Given the description of an element on the screen output the (x, y) to click on. 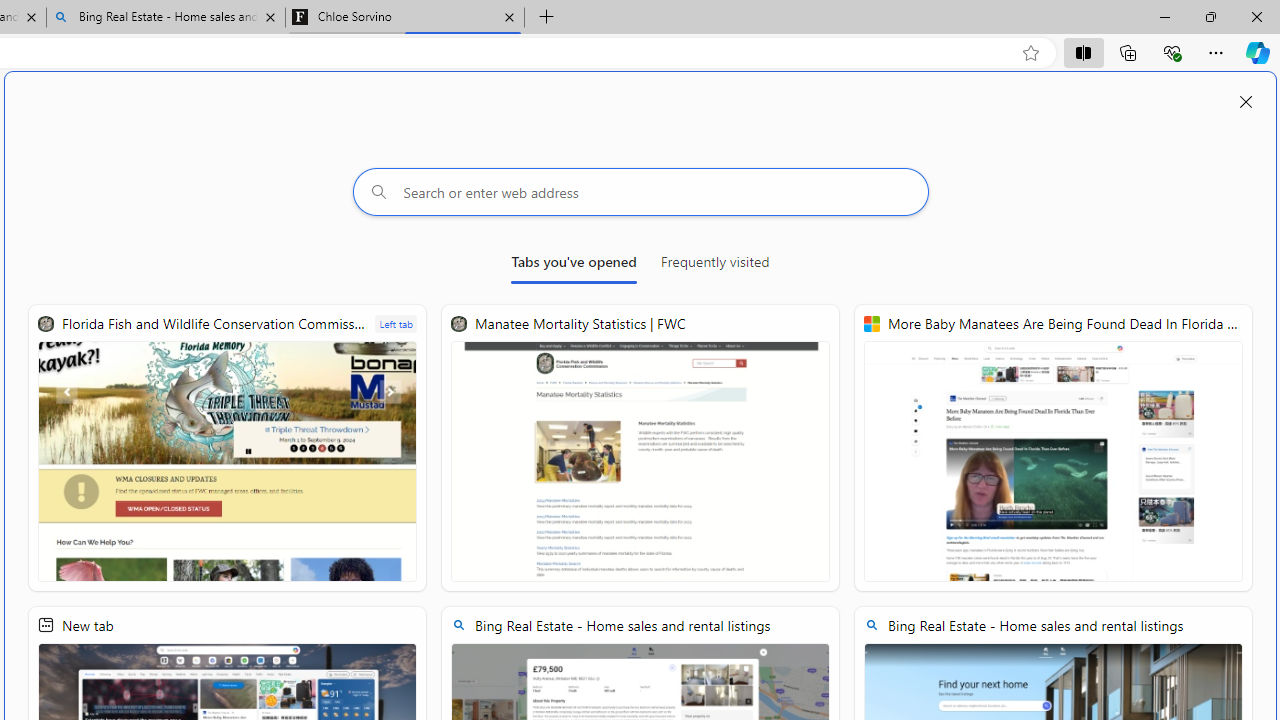
Chloe Sorvino (404, 17)
Tabs you've opened (573, 265)
Close split screen (1245, 102)
Manatee Mortality Statistics | FWC (639, 448)
